Given the description of an element on the screen output the (x, y) to click on. 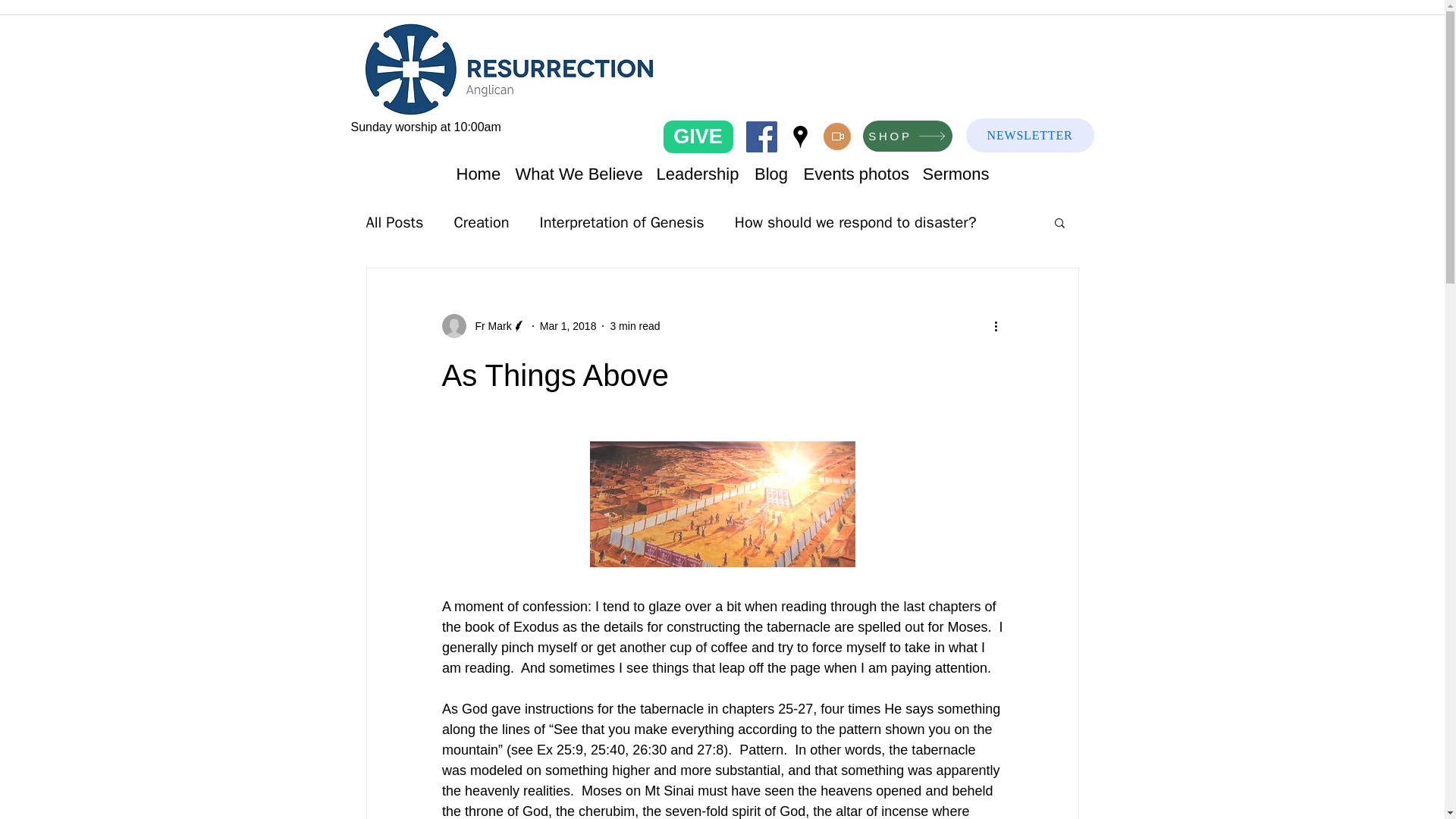
NEWSLETTER (1030, 134)
Home (478, 174)
Fr Mark (488, 326)
Mar 1, 2018 (568, 326)
What We Believe (578, 174)
3 min read (634, 326)
Sermons (954, 174)
Events photos (855, 174)
Interpretation of Genesis (620, 222)
SHOP (907, 135)
